Given the description of an element on the screen output the (x, y) to click on. 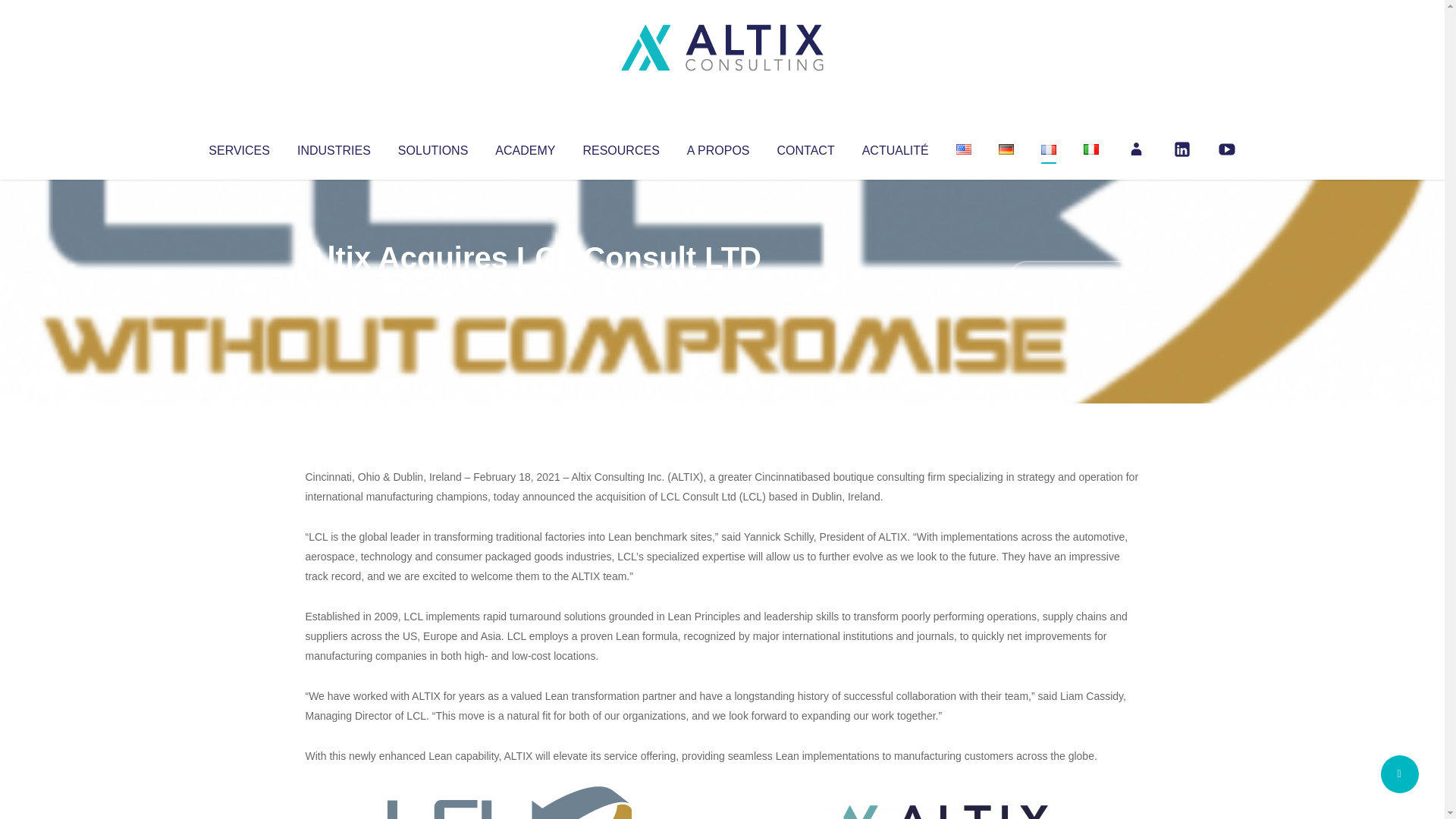
A PROPOS (718, 146)
RESOURCES (620, 146)
Articles par Altix (333, 287)
INDUSTRIES (334, 146)
SERVICES (238, 146)
Altix (333, 287)
ACADEMY (524, 146)
SOLUTIONS (432, 146)
No Comments (1073, 278)
Uncategorized (530, 287)
